Given the description of an element on the screen output the (x, y) to click on. 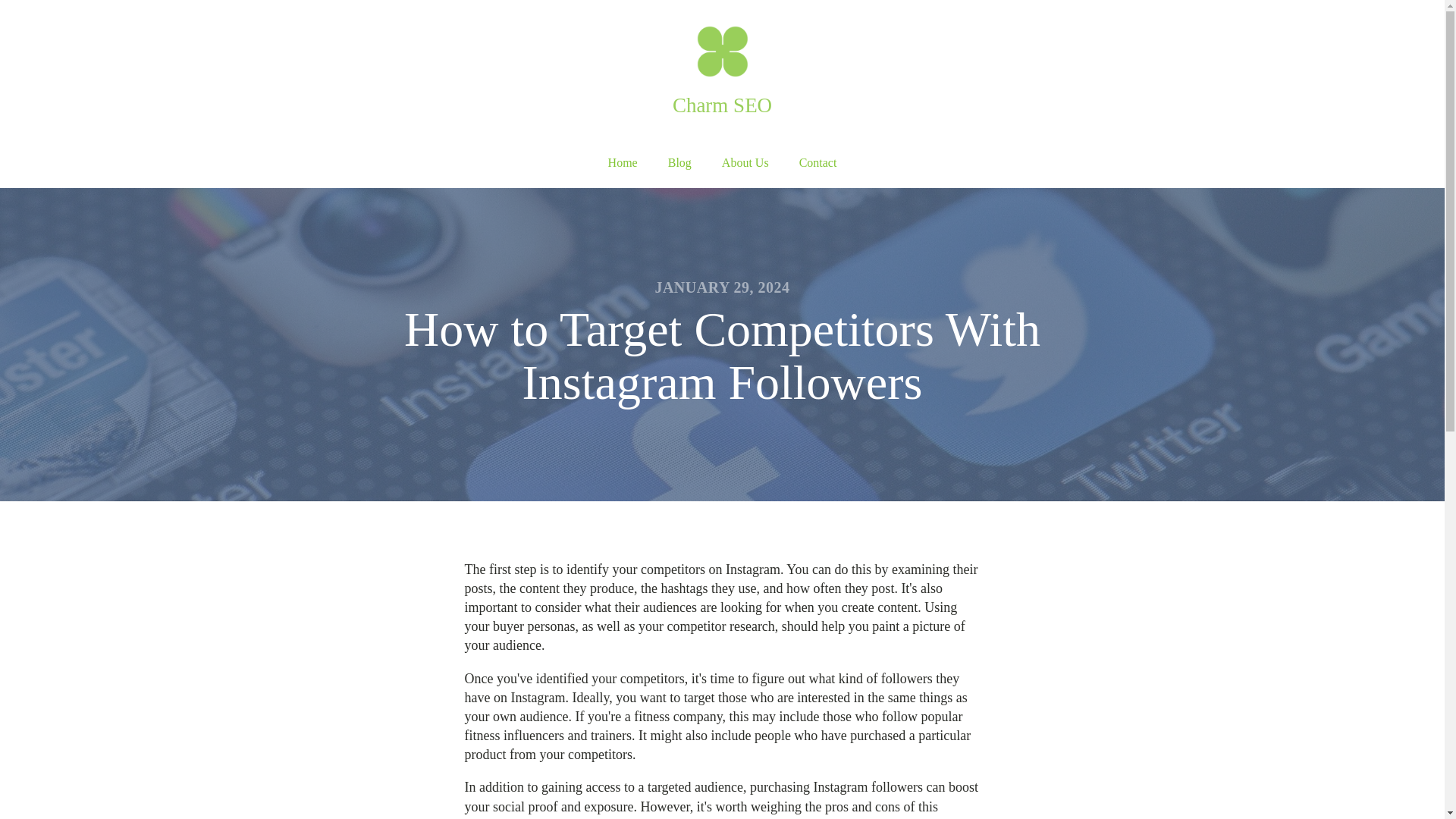
Blog (679, 163)
About Us (745, 163)
Contact (817, 163)
Home (622, 163)
